Given the description of an element on the screen output the (x, y) to click on. 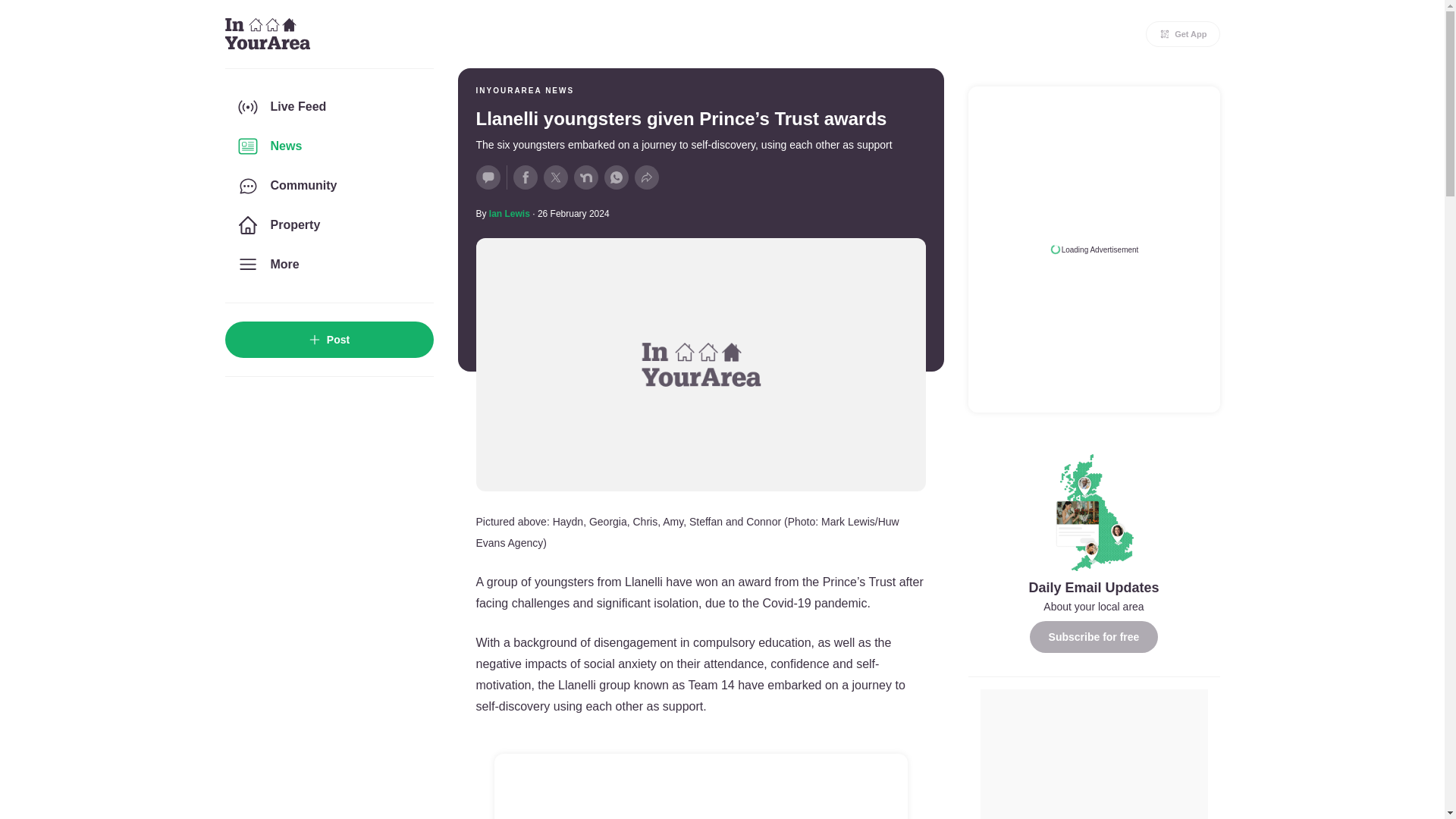
News (328, 146)
Share to ... (645, 177)
INYOURAREA NEWS (525, 90)
Share to Whatsapp (615, 177)
Live Feed (328, 106)
Share to X (555, 177)
Property (328, 224)
Post (328, 339)
Community (328, 185)
Social Button (488, 177)
Get App (1182, 33)
Share to Nextdoor (584, 177)
Share to Facebook (524, 177)
Get App (1182, 33)
